Given the description of an element on the screen output the (x, y) to click on. 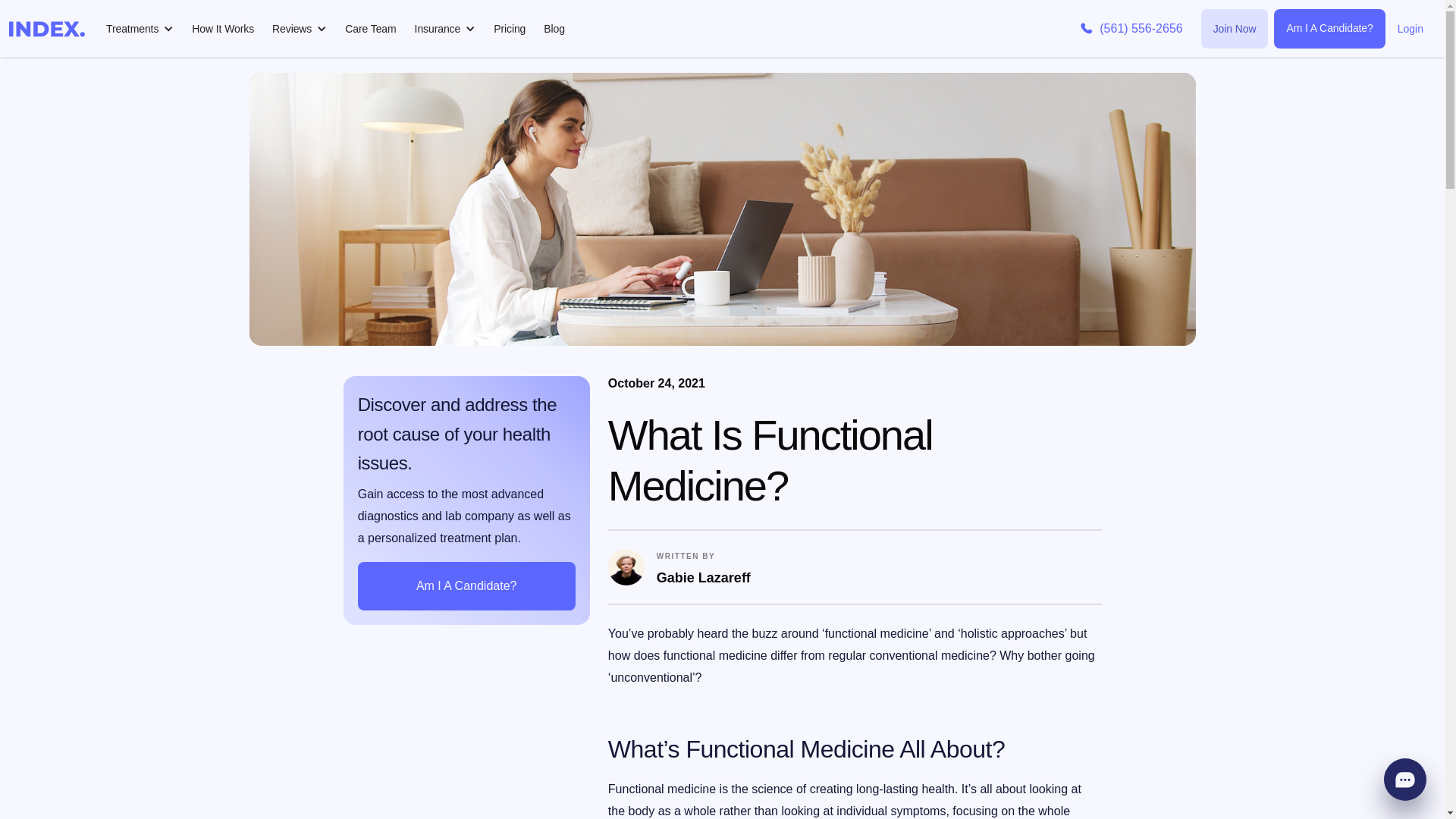
Am I A Candidate? (1329, 28)
Join Now (1234, 28)
Pricing (509, 28)
Care Team (370, 28)
How It Works (223, 28)
Blog (553, 28)
